Given the description of an element on the screen output the (x, y) to click on. 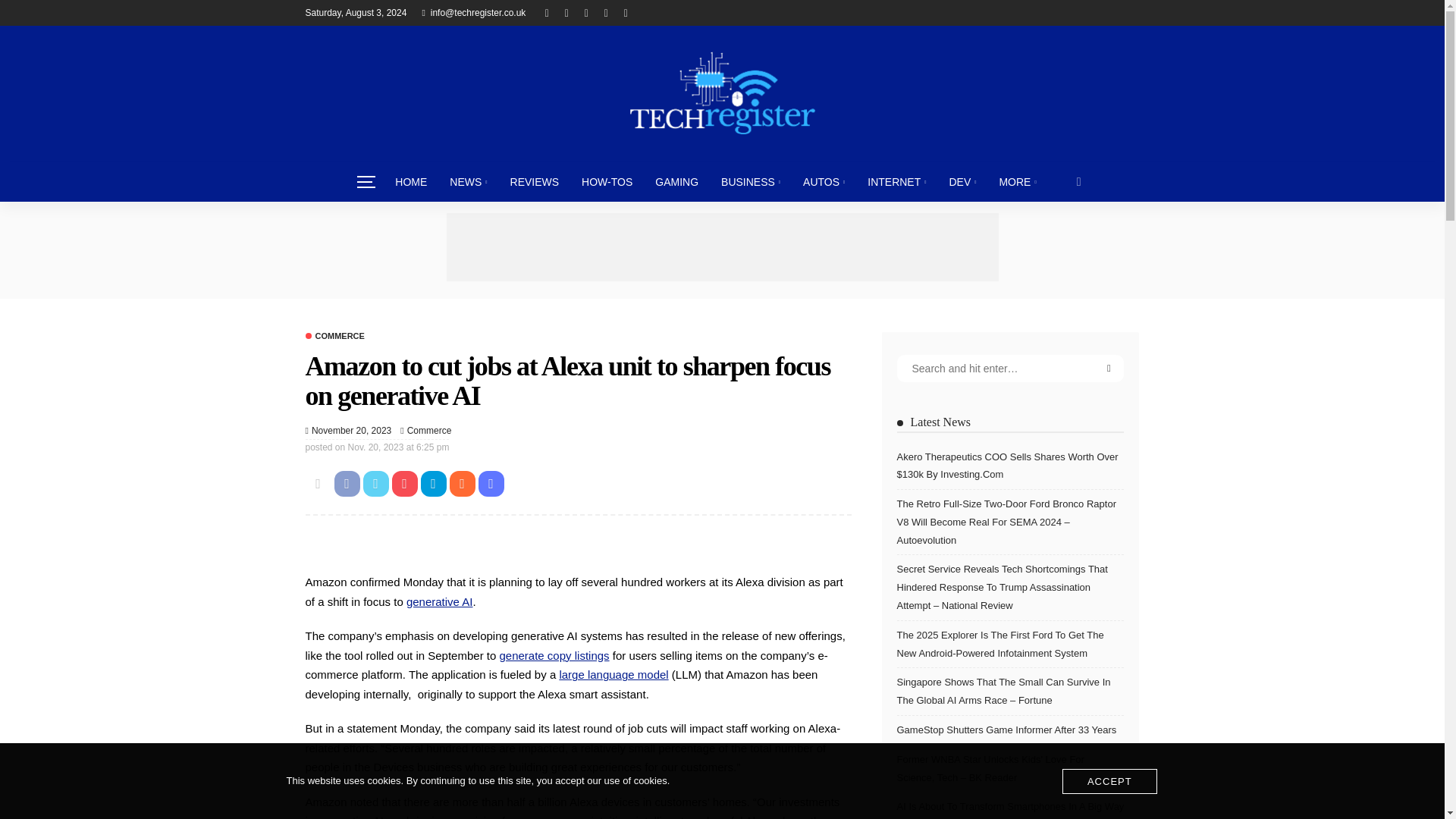
Techregister (721, 93)
Commerce (429, 430)
Commerce (334, 336)
search (1079, 181)
